Given the description of an element on the screen output the (x, y) to click on. 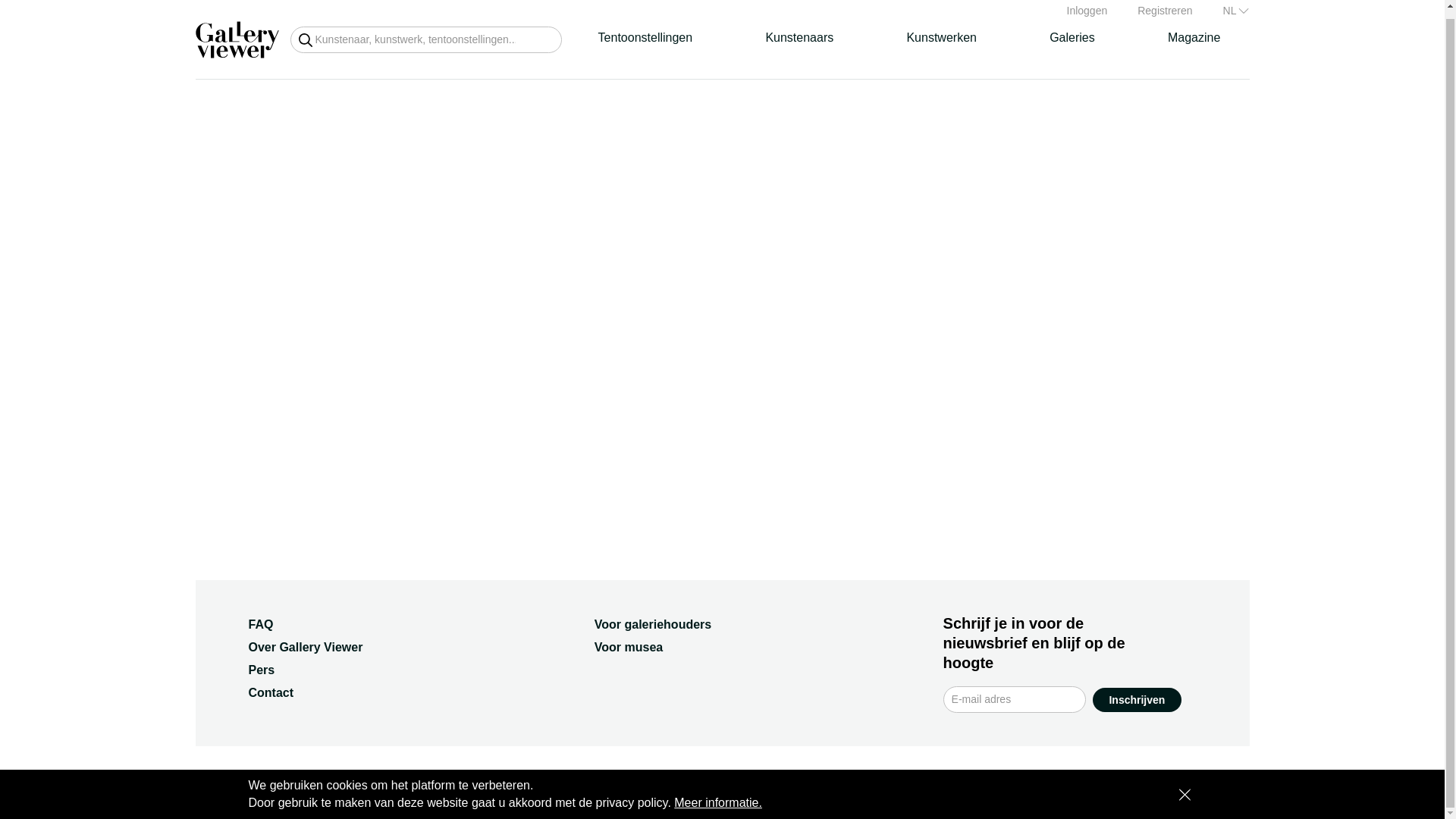
Inschrijven (1136, 699)
Tentoonstellingen (645, 37)
Magazine (1193, 37)
, Algemene voorwaarden (436, 781)
FAQ (260, 624)
Meer informatie. (717, 794)
Kunstenaars (798, 37)
Kunstwerken (940, 37)
Over Gallery Viewer (305, 646)
Voor musea (628, 646)
Contact (271, 692)
, Privacy (526, 781)
Voor galeriehouders (652, 624)
Pers (261, 669)
Galeries (1071, 37)
